Given the description of an element on the screen output the (x, y) to click on. 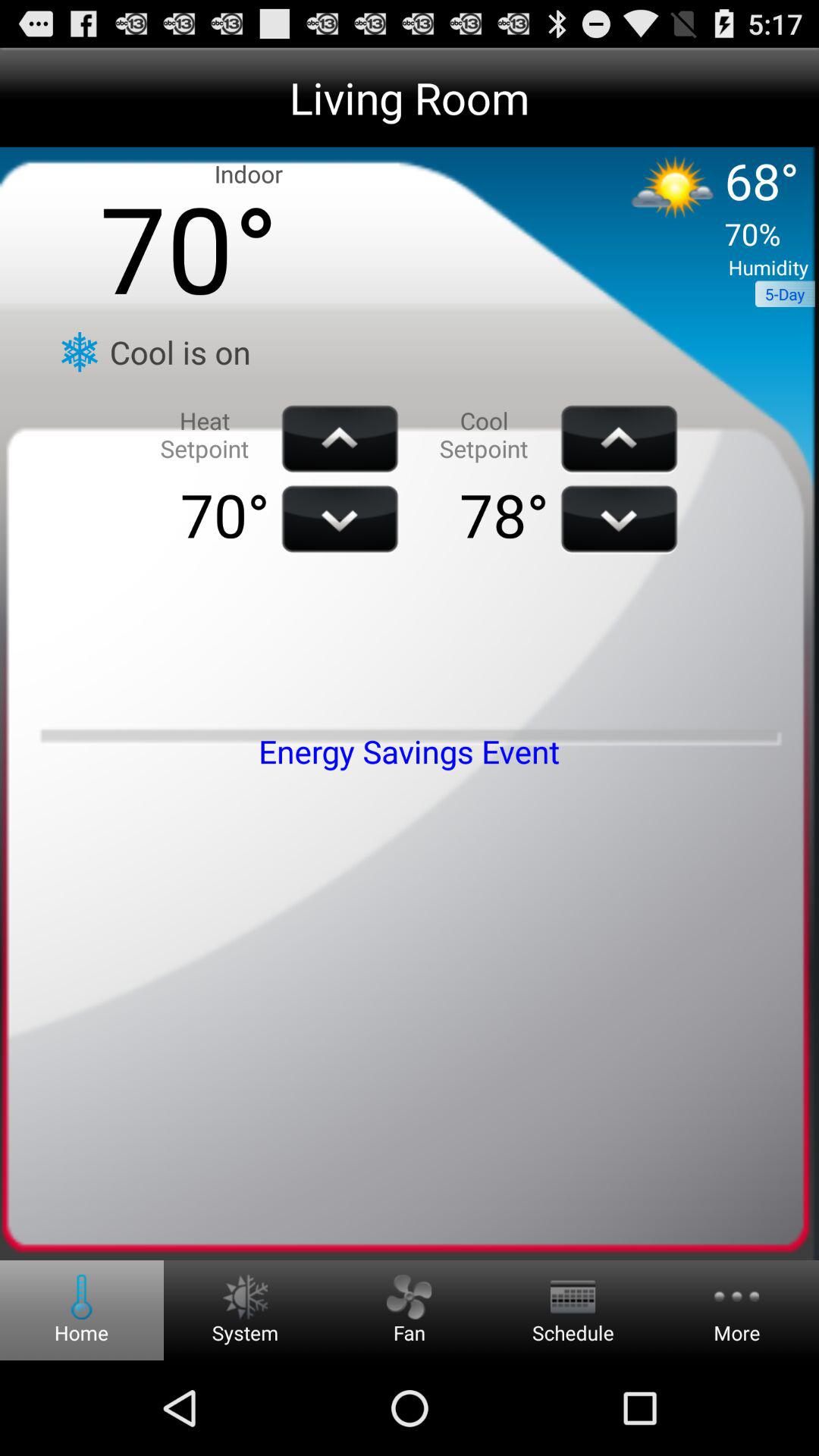
select the image above fan (408, 1297)
icon before cool text below 70 (79, 351)
icon above the text called system (244, 1297)
